Given the description of an element on the screen output the (x, y) to click on. 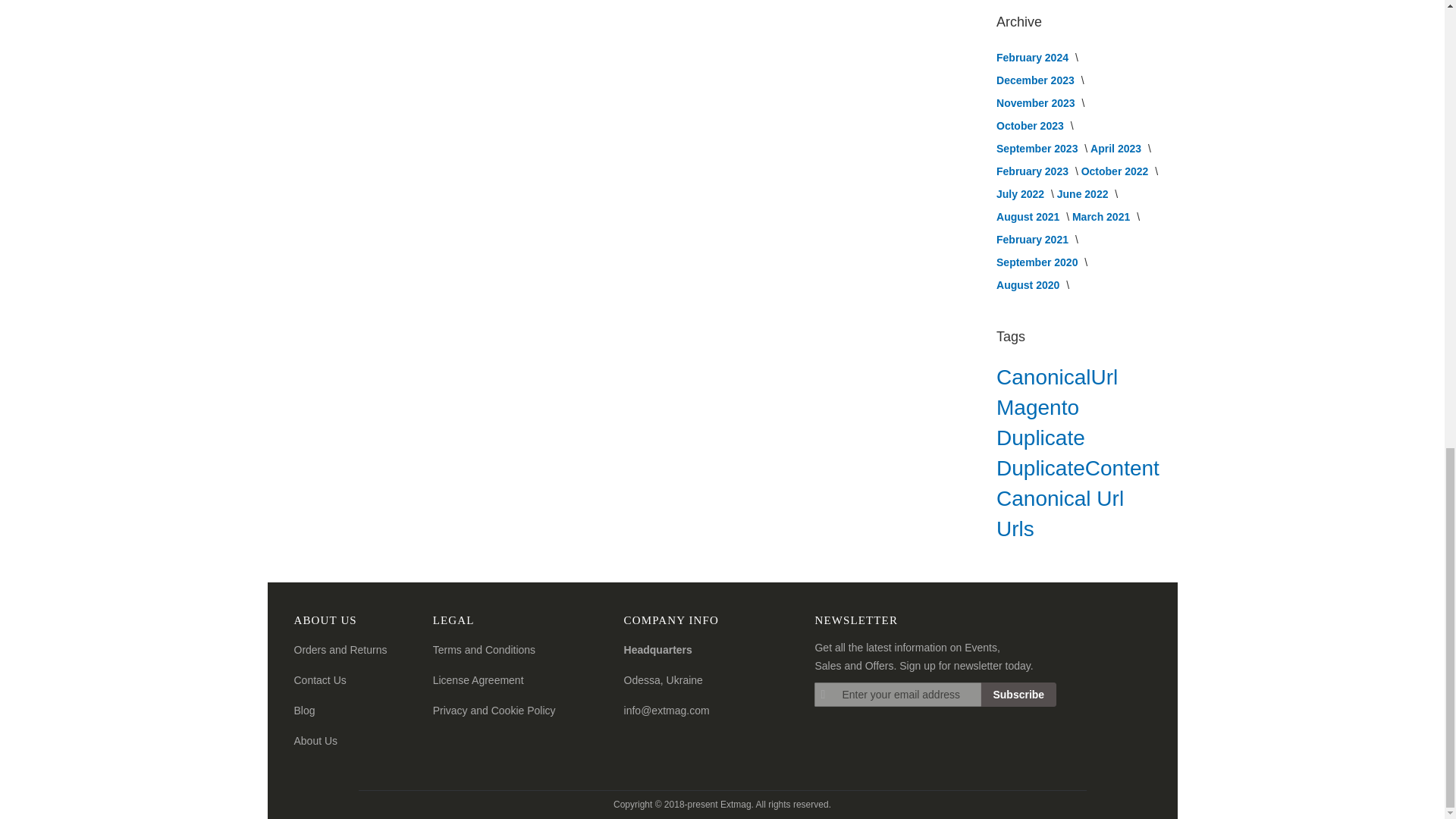
October 2023 (1031, 125)
February 2024 (1033, 57)
December 2023 (1036, 80)
November 2023 (1036, 102)
